Given the description of an element on the screen output the (x, y) to click on. 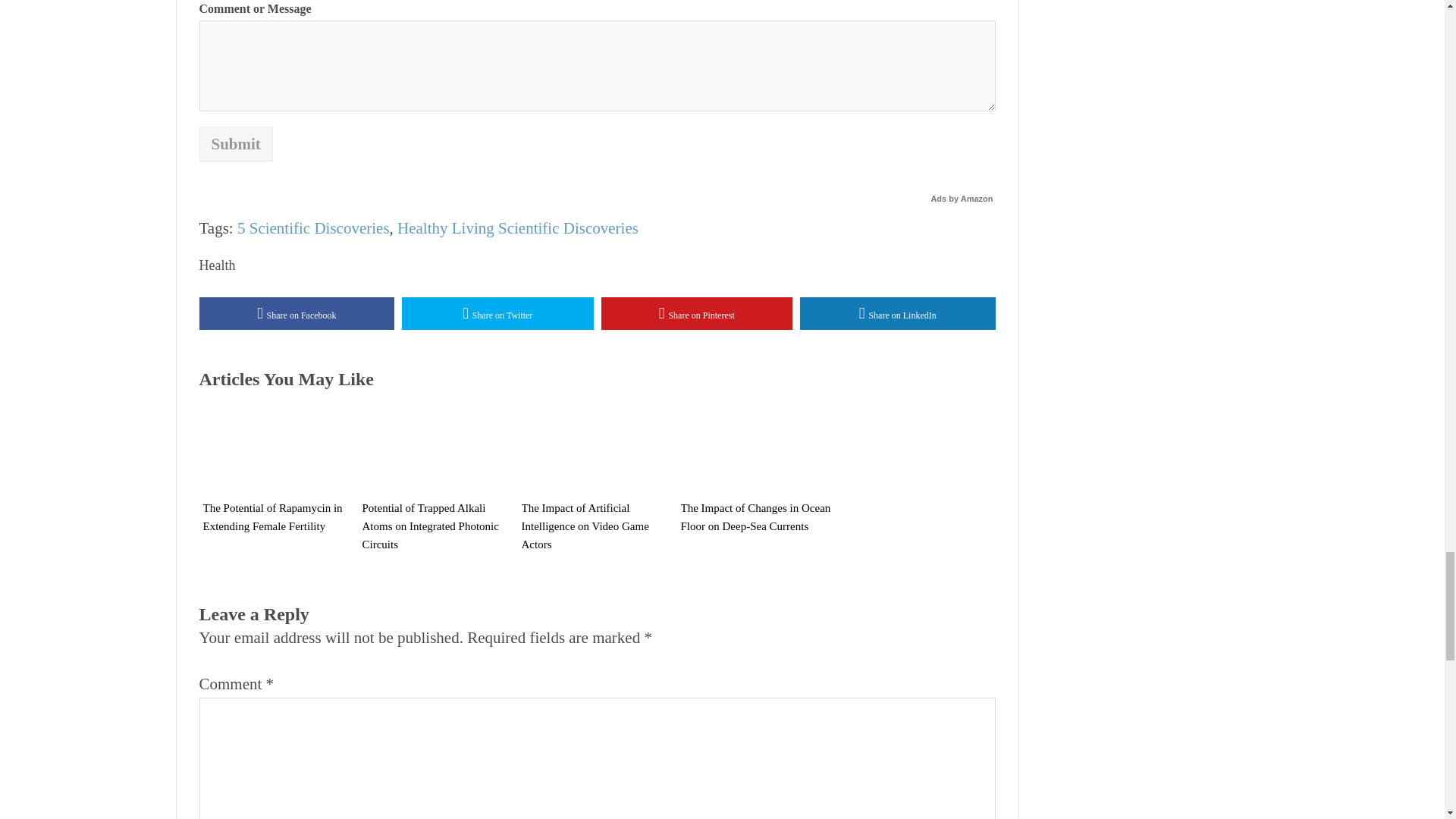
Health (216, 264)
